Given the description of an element on the screen output the (x, y) to click on. 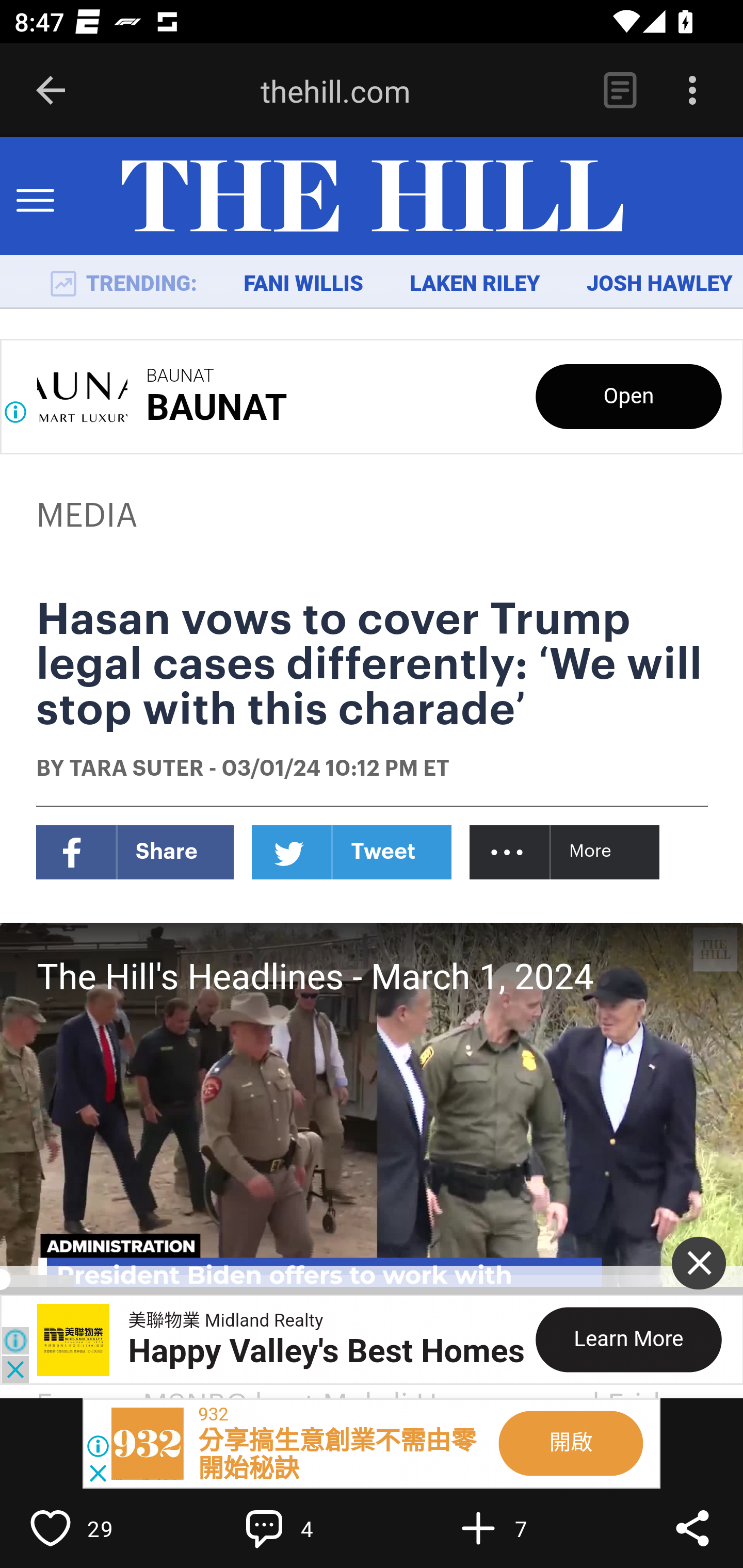
Back (50, 90)
Reader View (619, 90)
Options (692, 90)
Toggle Menu (34, 196)
TheHill.com (371, 196)
FANI WILLIS (303, 284)
LAKEN RILEY (474, 284)
JOSH HAWLEY (659, 284)
MEDIA (87, 516)
TARA SUTER (135, 769)
Facebook Share Facebook Share (135, 852)
Twitter Tweet Twitter Tweet (352, 852)
... More (565, 852)
✕ (699, 1262)
開啟 932 分享搞生意創業不需由零 開始秘訣 開啟 932 分享搞生意創業不需由零
開始秘訣 (371, 1443)
Like 29 (93, 1528)
Write a comment… 4 (307, 1528)
Flip into Magazine 7 (521, 1528)
Share (692, 1528)
